Given the description of an element on the screen output the (x, y) to click on. 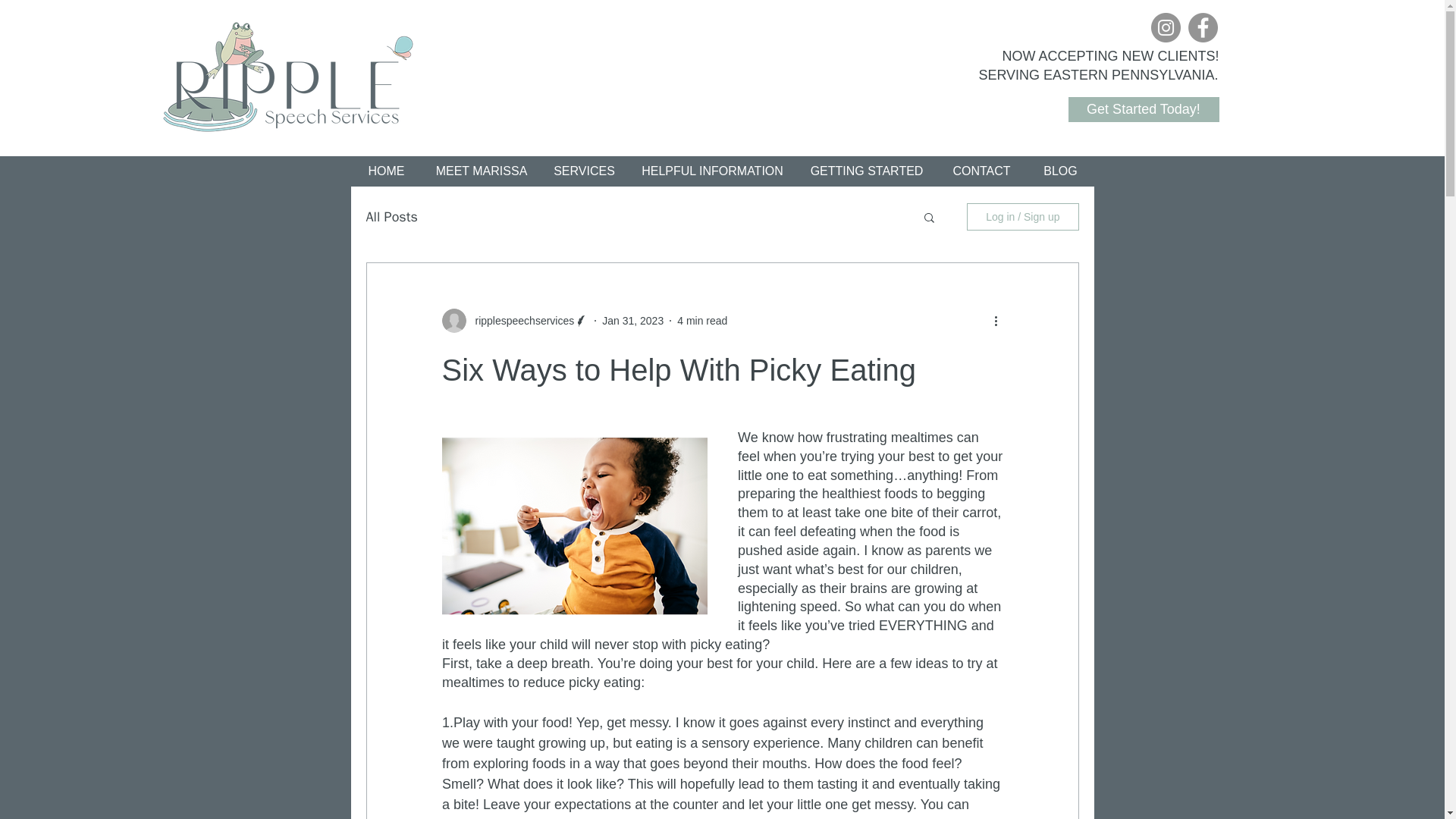
MEET MARISSA (481, 170)
BLOG (1059, 170)
All Posts (390, 217)
Get Started Today! (1142, 109)
4 min read (701, 320)
SERVICES (584, 170)
ripplespeechservices (519, 320)
GETTING STARTED (866, 170)
CONTACT (981, 170)
HELPFUL INFORMATION (712, 170)
HOME (386, 170)
Jan 31, 2023 (632, 320)
